Given the description of an element on the screen output the (x, y) to click on. 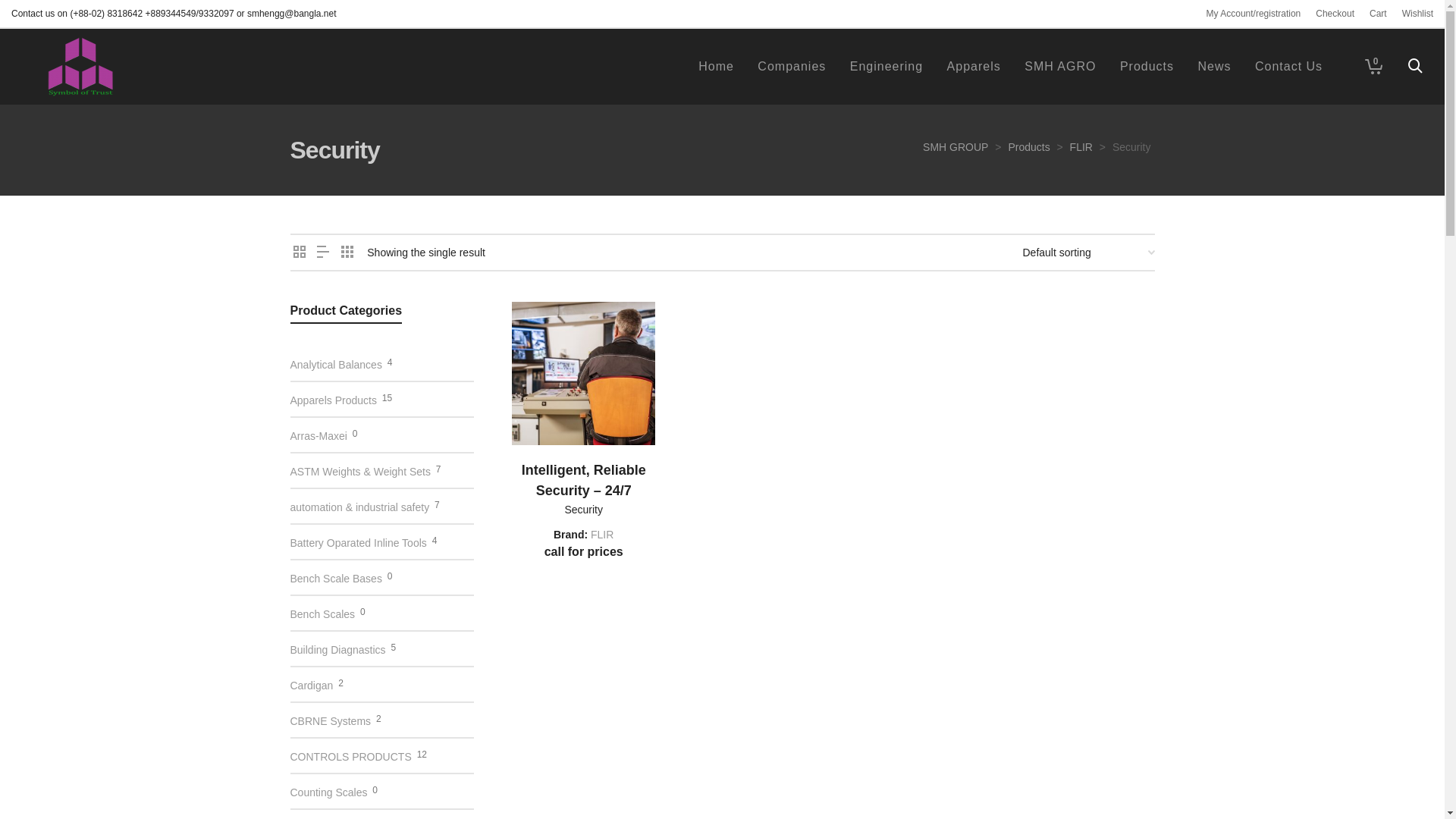
CONTROLS PRODUCTS Element type: text (350, 755)
Bench Scales Element type: text (321, 613)
SMH GROUP Element type: text (955, 147)
Analytical Balances Element type: text (335, 363)
Grid Layout Element type: hover (347, 252)
0 Element type: text (1368, 66)
Standard Layout Element type: hover (298, 252)
Engineering Element type: text (886, 66)
FLIR Element type: text (601, 534)
SMH AGRO Element type: text (1060, 66)
ASTM Weights & Weight Sets Element type: text (359, 470)
Cardigan Element type: text (310, 684)
News Element type: text (1214, 66)
Apparels Products Element type: text (332, 399)
FLIR Element type: text (1081, 147)
Products Element type: text (1028, 147)
Apparels Element type: text (973, 66)
Products Element type: text (1146, 66)
Building Diagnastics Element type: text (337, 648)
automation & industrial safety Element type: text (359, 506)
Battery Oparated Inline Tools Element type: text (357, 541)
Home Element type: text (716, 66)
Cart Element type: text (1377, 13)
Wishlist Element type: text (1417, 13)
Security Element type: text (583, 509)
List Layout Element type: hover (322, 252)
Arras-Maxei Element type: text (317, 434)
CBRNE Systems Element type: text (329, 719)
Counting Scales Element type: text (328, 791)
Checkout Element type: text (1334, 13)
Contact Us Element type: text (1288, 66)
Bench Scale Bases Element type: text (335, 577)
My Account/registration Element type: text (1253, 13)
Companies Element type: text (791, 66)
